Given the description of an element on the screen output the (x, y) to click on. 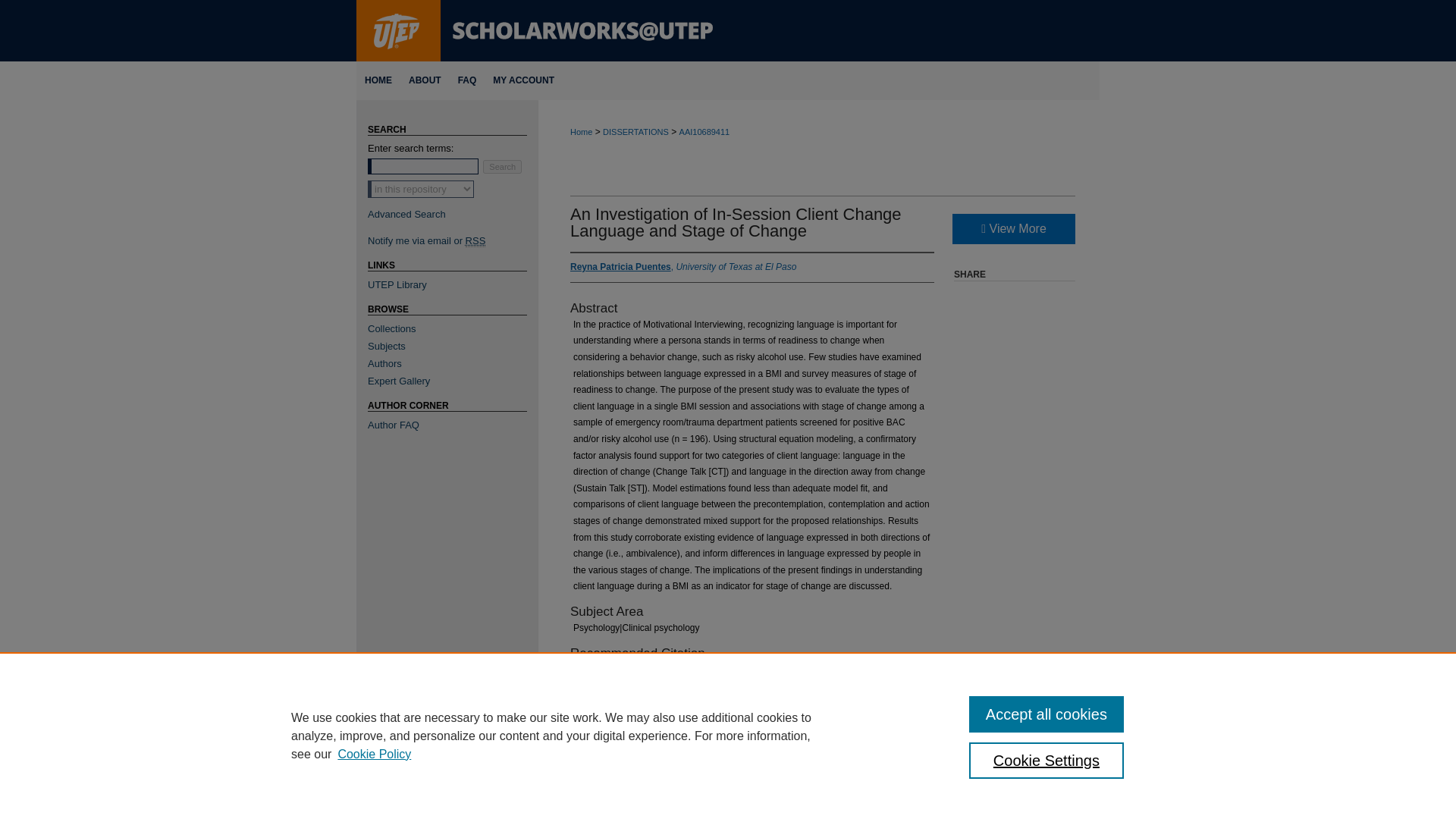
Really Simple Syndication (475, 241)
Search (502, 166)
MY ACCOUNT (523, 80)
HOME (378, 80)
Notify me via email or RSS (453, 240)
AAI10689411 (704, 131)
UTEP Library (453, 284)
Browse by Collections (453, 328)
Advanced Search (406, 214)
DISSERTATIONS (635, 131)
Expert Gallery (453, 380)
FAQ (466, 80)
Search (502, 166)
My Account (711, 757)
My Account (523, 80)
